Given the description of an element on the screen output the (x, y) to click on. 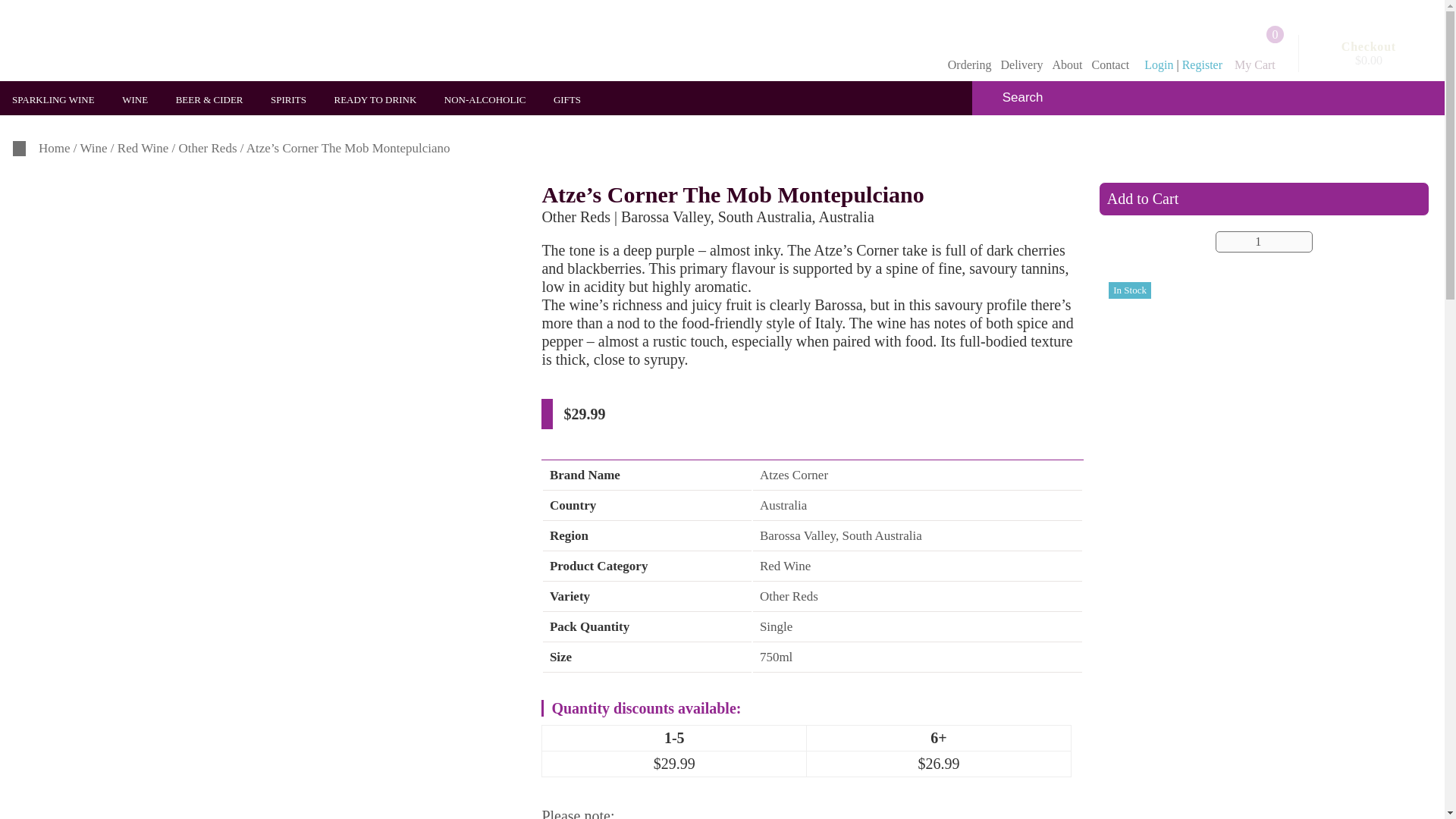
Visit deVine Cellars (125, 42)
Spirits (292, 99)
1 (1264, 241)
Visit deVine Cellars (125, 40)
Wine (139, 99)
